Given the description of an element on the screen output the (x, y) to click on. 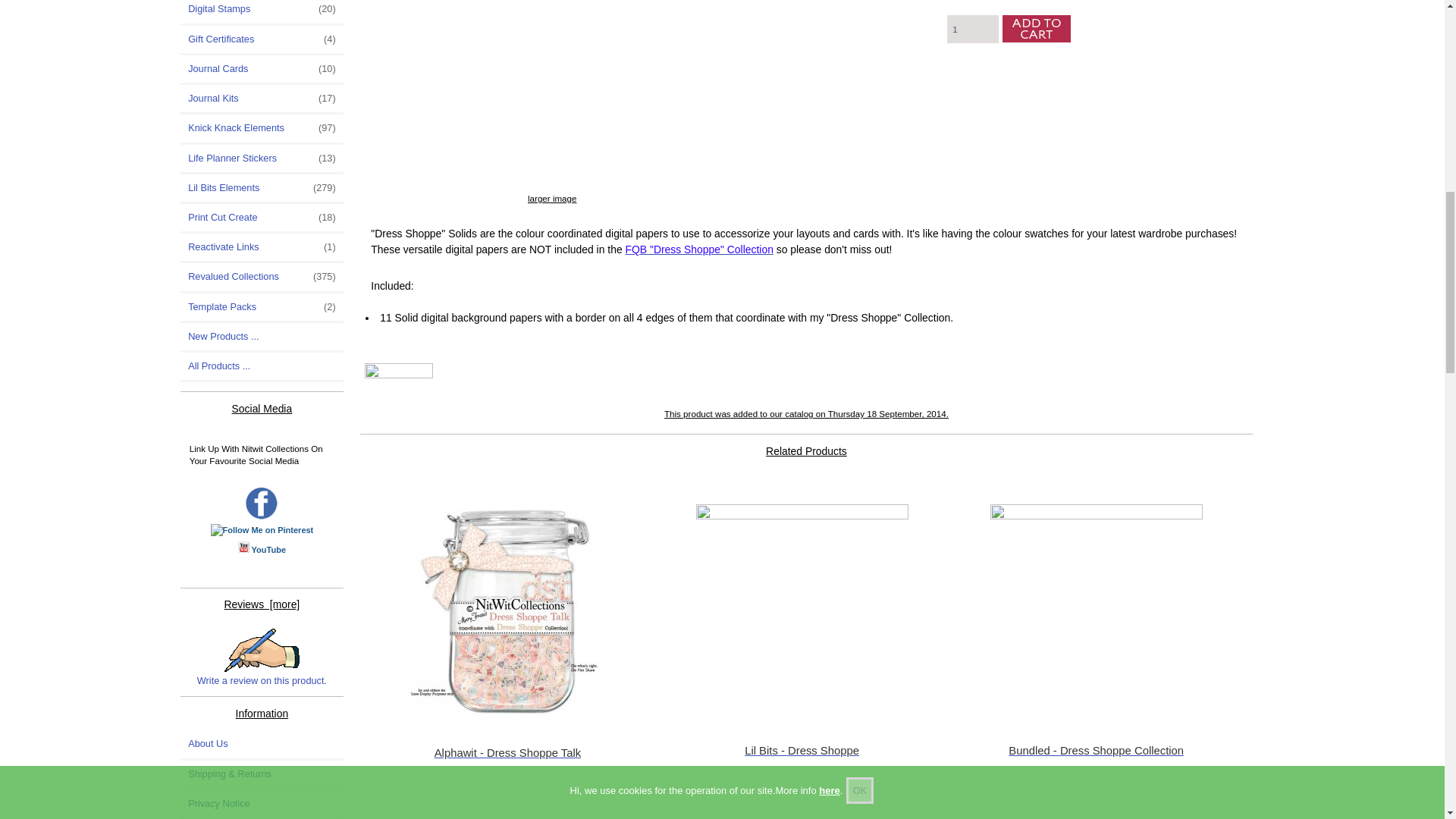
Lil Bits - Dress Shoppe (801, 610)
Alphawit - Dress Shoppe Talk (506, 610)
1 (972, 29)
About Us (261, 743)
Write a review on this product. (261, 657)
YouTube (268, 549)
Write a review on this product. (261, 649)
Privacy Notice (261, 803)
New Products ... (261, 336)
All Products ... (261, 366)
